Given the description of an element on the screen output the (x, y) to click on. 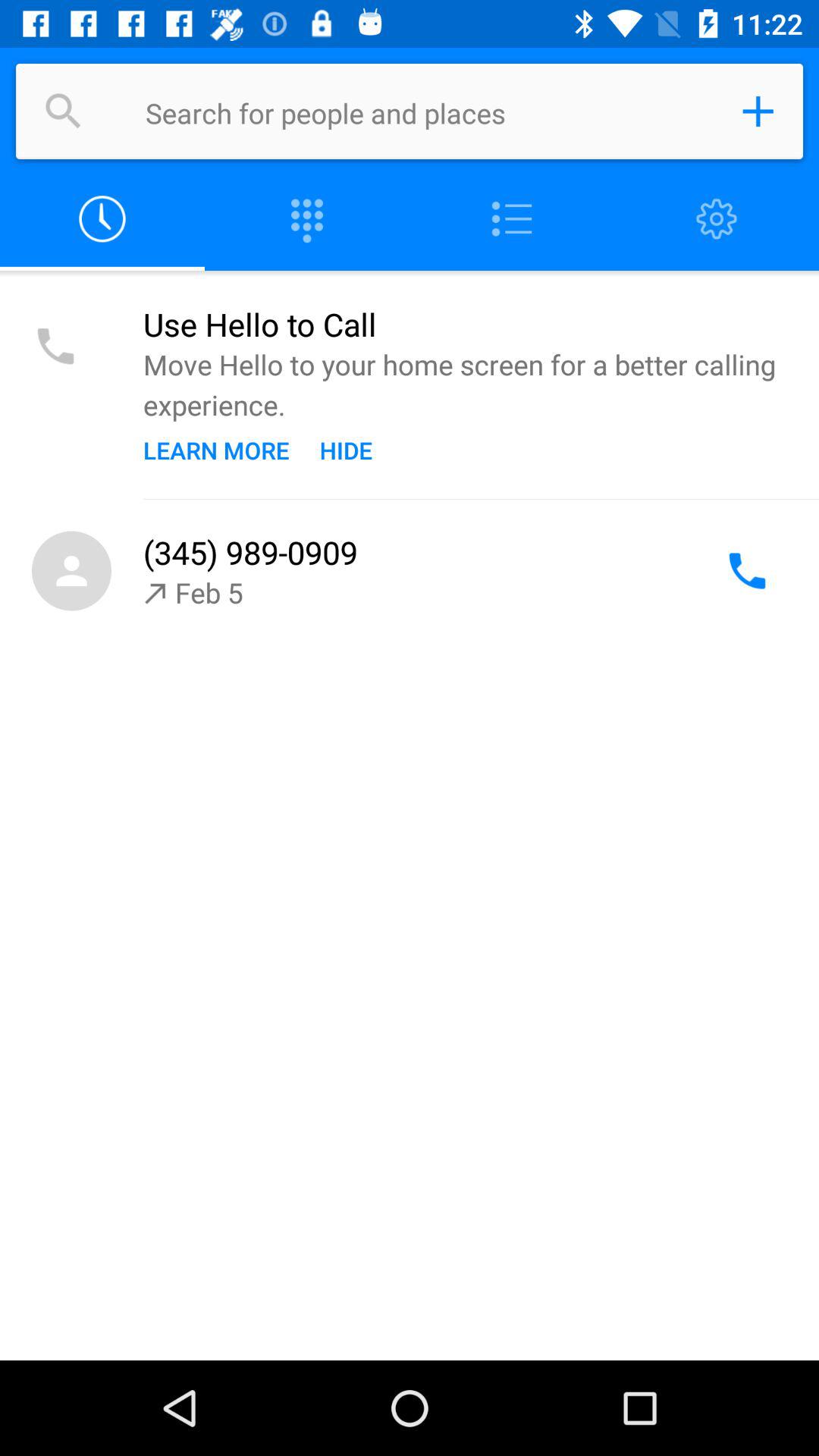
click to search option (63, 111)
